Given the description of an element on the screen output the (x, y) to click on. 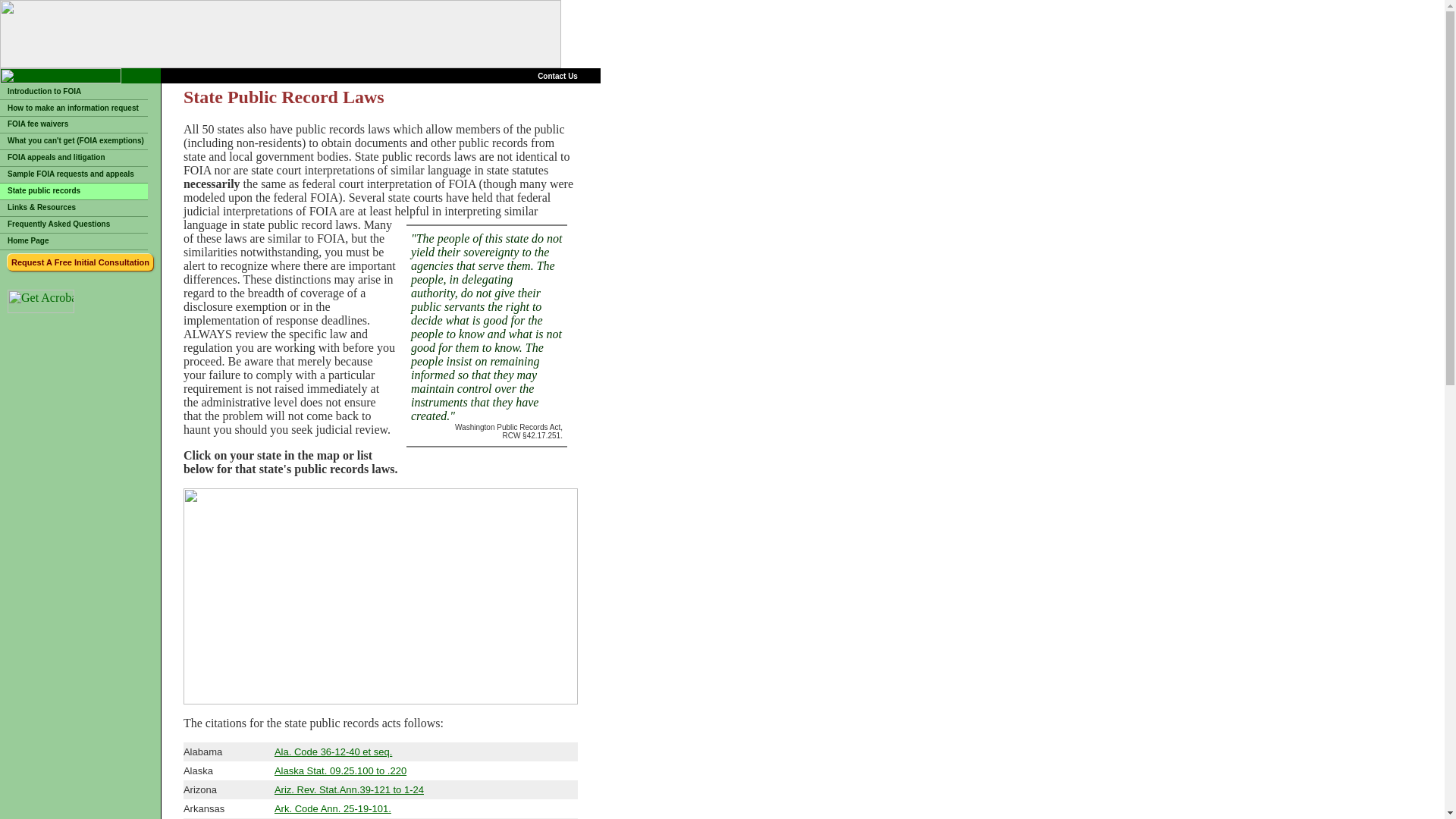
Ariz. Rev. Stat.Ann.39-121 to 1-24 (349, 789)
FOIA appeals and litigation (55, 157)
Introduction to FOIA (44, 90)
Request A Free Initial Consultation (79, 262)
Alaska Stat. 09.25.100 to .220 (340, 770)
Ala. Code 36-12-40 et seq. (333, 751)
Ark. Code Ann. 25-19-101. (333, 808)
How to make an information request (72, 108)
FOIA fee waivers (37, 123)
Sample FOIA requests and appeals (70, 173)
